Given the description of an element on the screen output the (x, y) to click on. 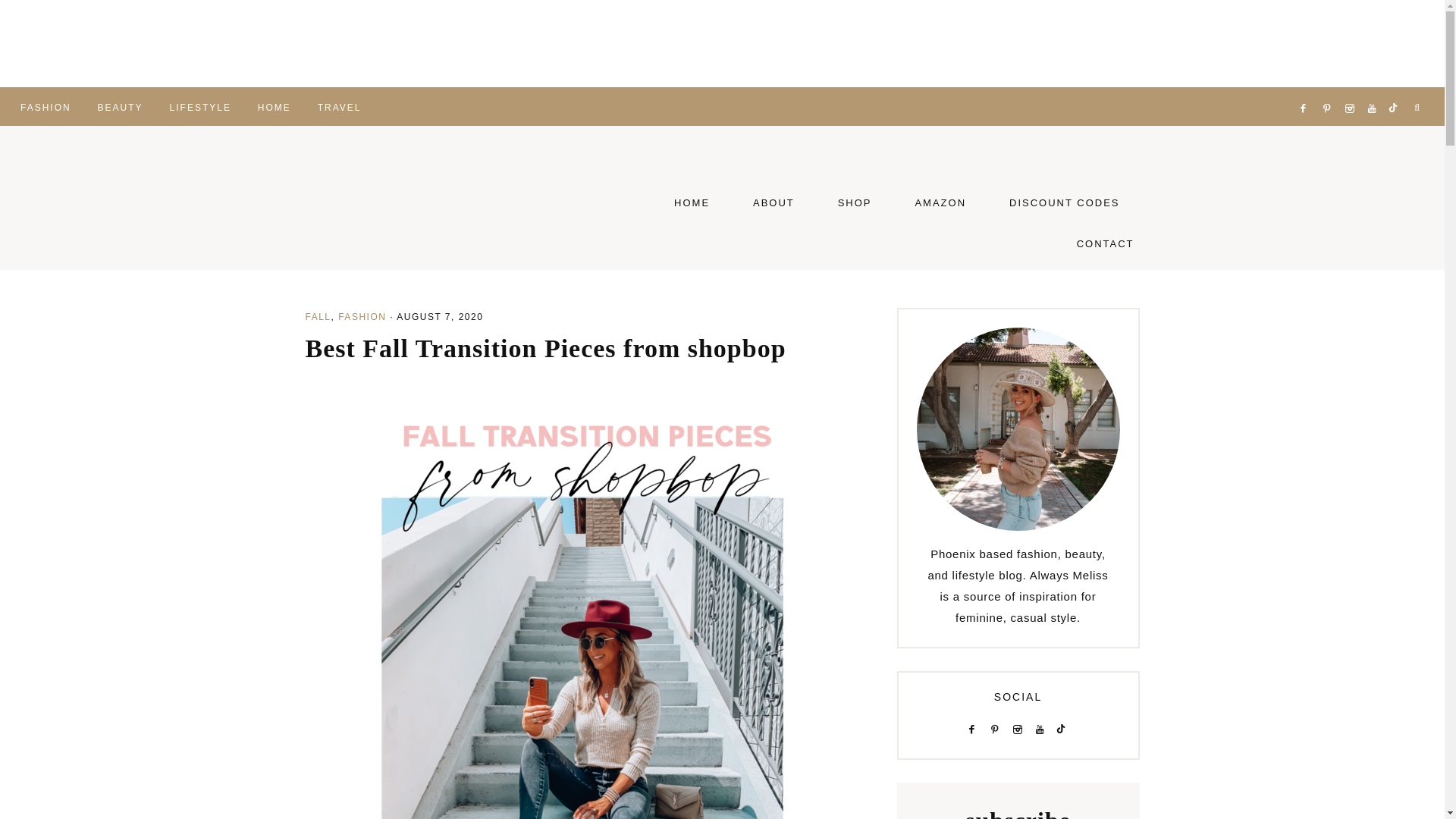
AMAZON (940, 202)
HOME (274, 105)
YouTube (1374, 89)
Always Meliss (437, 197)
DISCOUNT CODES (1065, 202)
SHOP (854, 202)
HOME (691, 202)
LIFESTYLE (200, 105)
Instagram (1352, 89)
TRAVEL (338, 105)
